Given the description of an element on the screen output the (x, y) to click on. 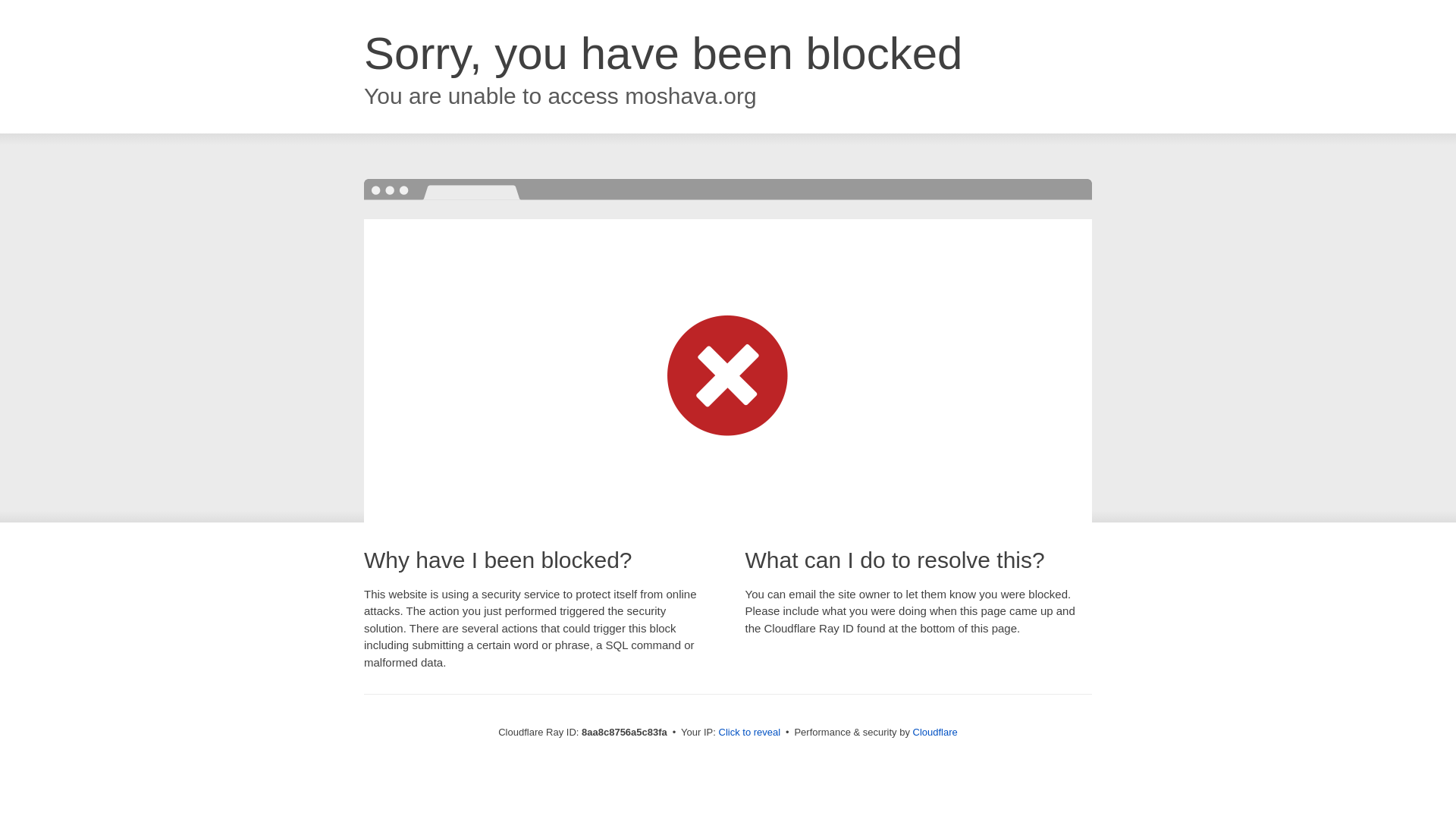
Cloudflare (935, 731)
Click to reveal (749, 732)
